Given the description of an element on the screen output the (x, y) to click on. 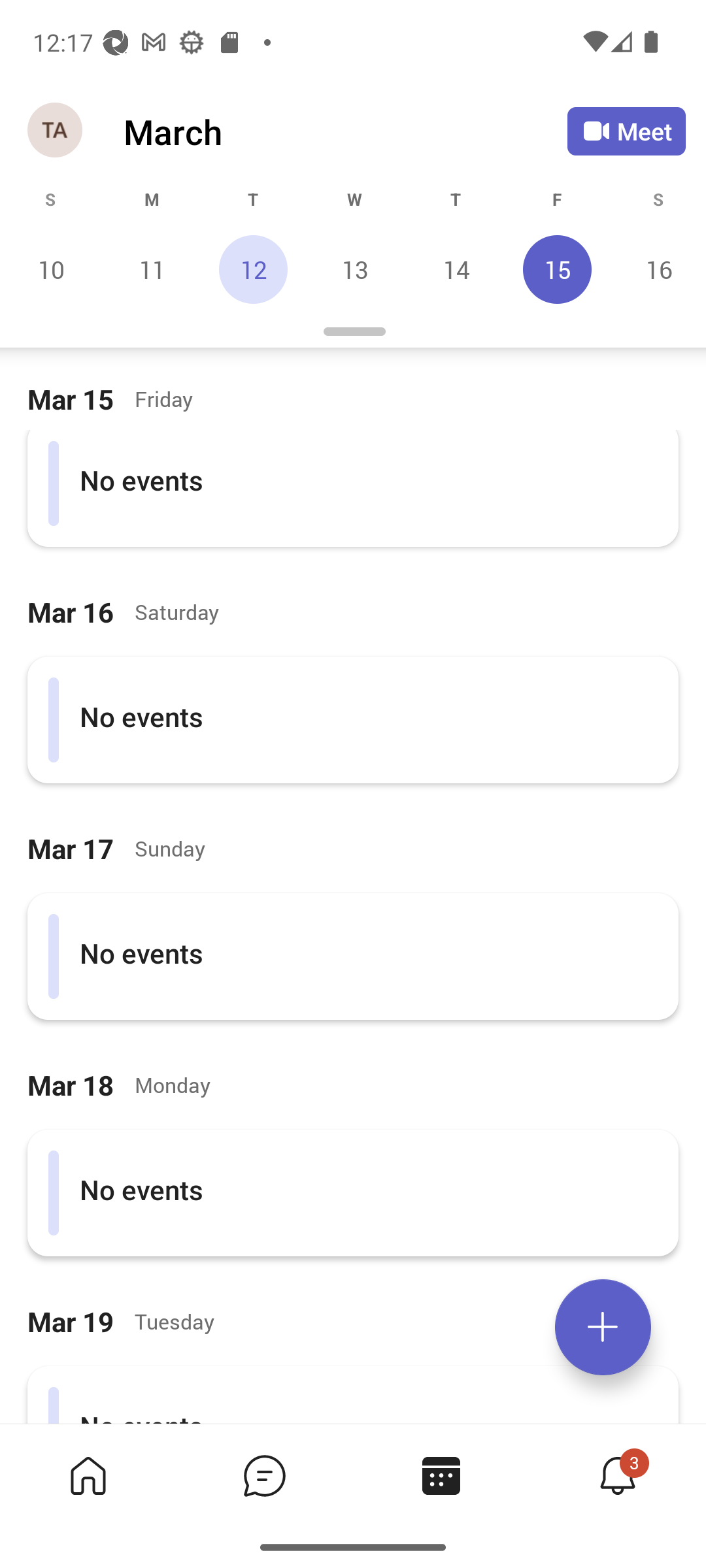
Navigation (56, 130)
Meet Meet now or join with an ID (626, 130)
March March Calendar Agenda View (345, 131)
Sunday, March 10 10 (50, 269)
Monday, March 11 11 (151, 269)
Tuesday, March 12, Today 12 (253, 269)
Wednesday, March 13 13 (354, 269)
Thursday, March 14 14 (455, 269)
Friday, March 15, Selected 15 (556, 269)
Saturday, March 16 16 (656, 269)
Expand meetings menu (602, 1327)
Home tab,1 of 4, not selected (88, 1475)
Chat tab,2 of 4, not selected (264, 1475)
Calendar tab, 3 of 4 (441, 1475)
Activity tab,4 of 4, not selected, 3 new 3 (617, 1475)
